Given the description of an element on the screen output the (x, y) to click on. 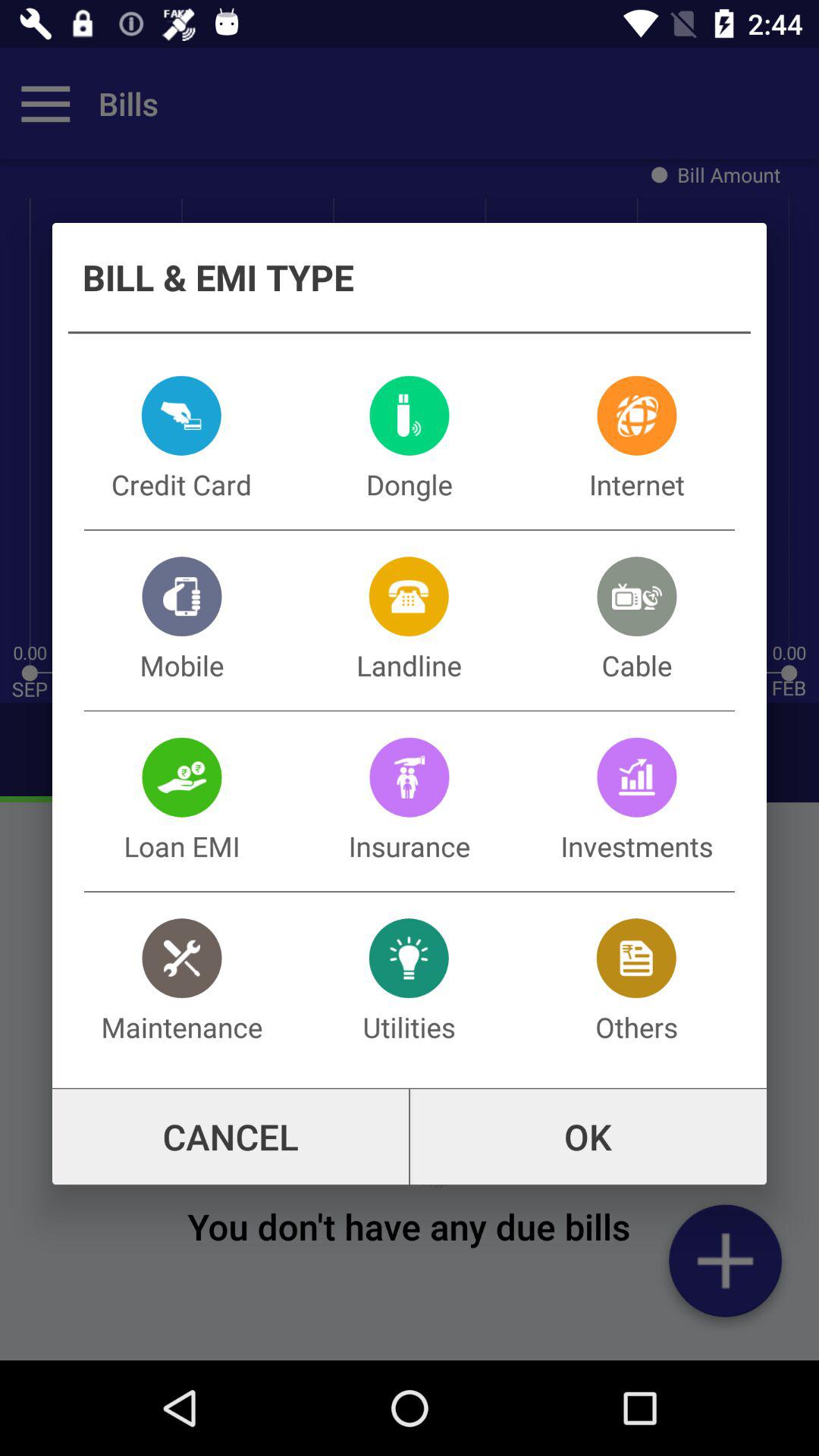
jump to cancel item (230, 1136)
